Given the description of an element on the screen output the (x, y) to click on. 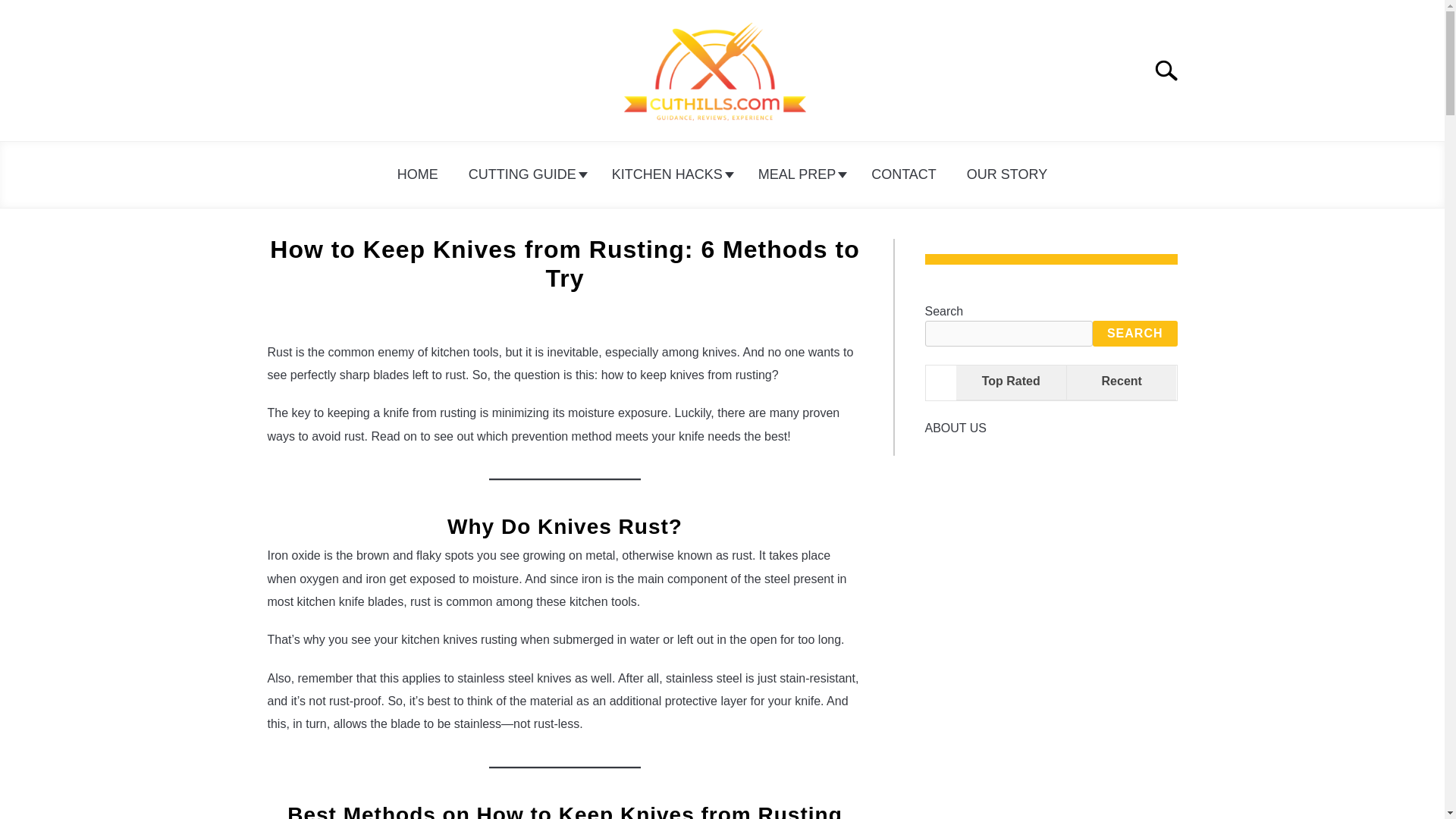
KITCHEN HACKS (669, 174)
HOME (416, 174)
OUR STORY (1007, 174)
SEARCH (1135, 333)
CONTACT (904, 174)
CUTTING GUIDE (524, 174)
Top Rated (1010, 382)
MEAL PREP (799, 174)
Recent (1120, 382)
Search (1172, 70)
